Given the description of an element on the screen output the (x, y) to click on. 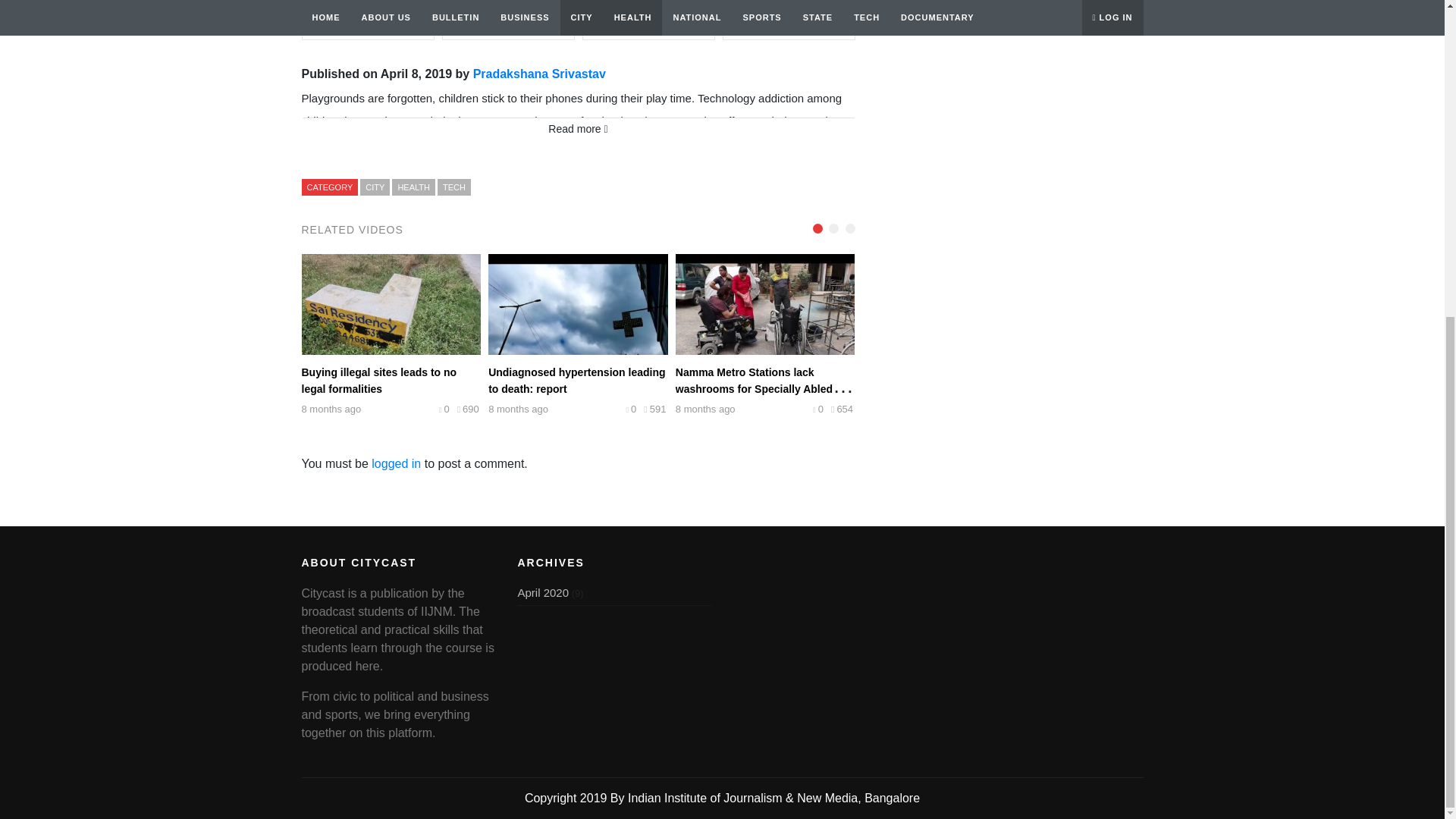
1 (648, 20)
TECH (454, 187)
HEALTH (413, 187)
Comments (367, 20)
Read more (578, 128)
Pradakshana Srivastav (539, 73)
Share (507, 20)
Comments (367, 20)
Buying illegal sites leads to no legal formalities (379, 380)
Turn off Light (788, 20)
CITY (374, 187)
